Given the description of an element on the screen output the (x, y) to click on. 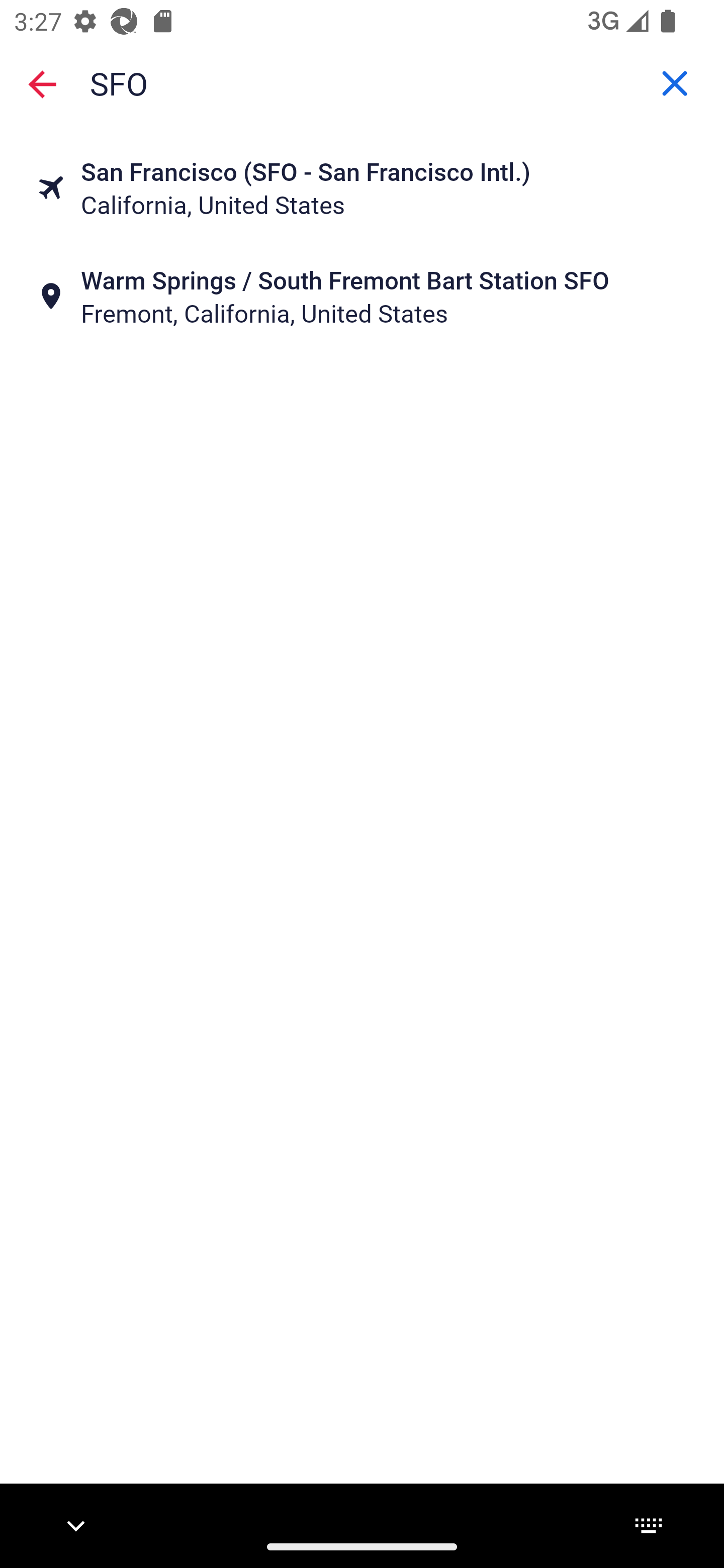
Clear Drop-off (674, 82)
Drop-off, SFO (361, 82)
Close search screen (41, 83)
